Given the description of an element on the screen output the (x, y) to click on. 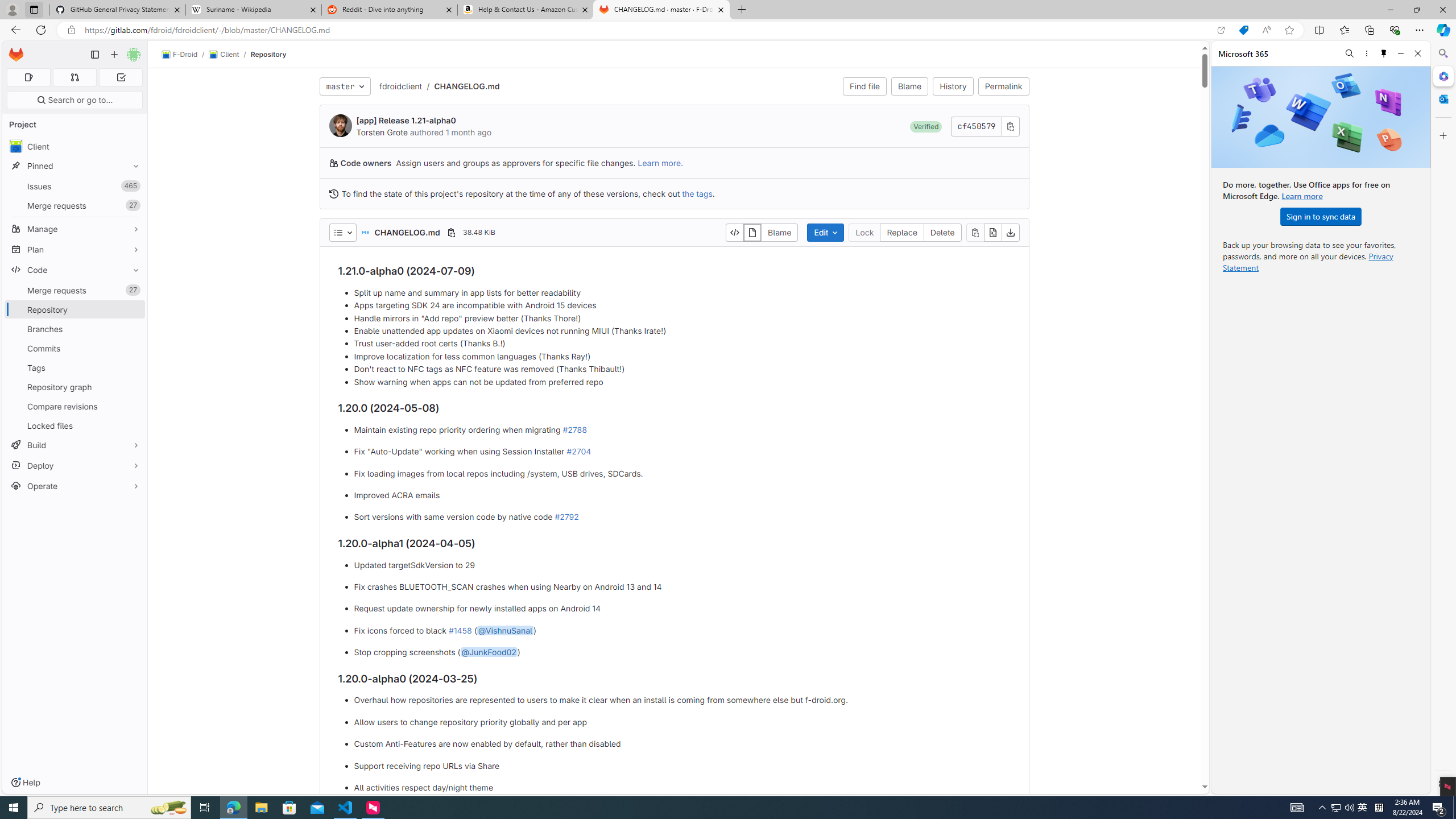
#2792 (566, 516)
Locked files (74, 425)
Pin Compare revisions (132, 406)
fdroidclient (400, 85)
Unpin side pane (1383, 53)
Plan (74, 248)
fdroidclient (400, 85)
All activities respect day/night theme (681, 787)
Repository (268, 53)
#1458 (459, 629)
Client (223, 54)
GitHub General Privacy Statement - GitHub Docs (117, 9)
F-Droid/ (185, 54)
Unpin Issues (132, 186)
